Given the description of an element on the screen output the (x, y) to click on. 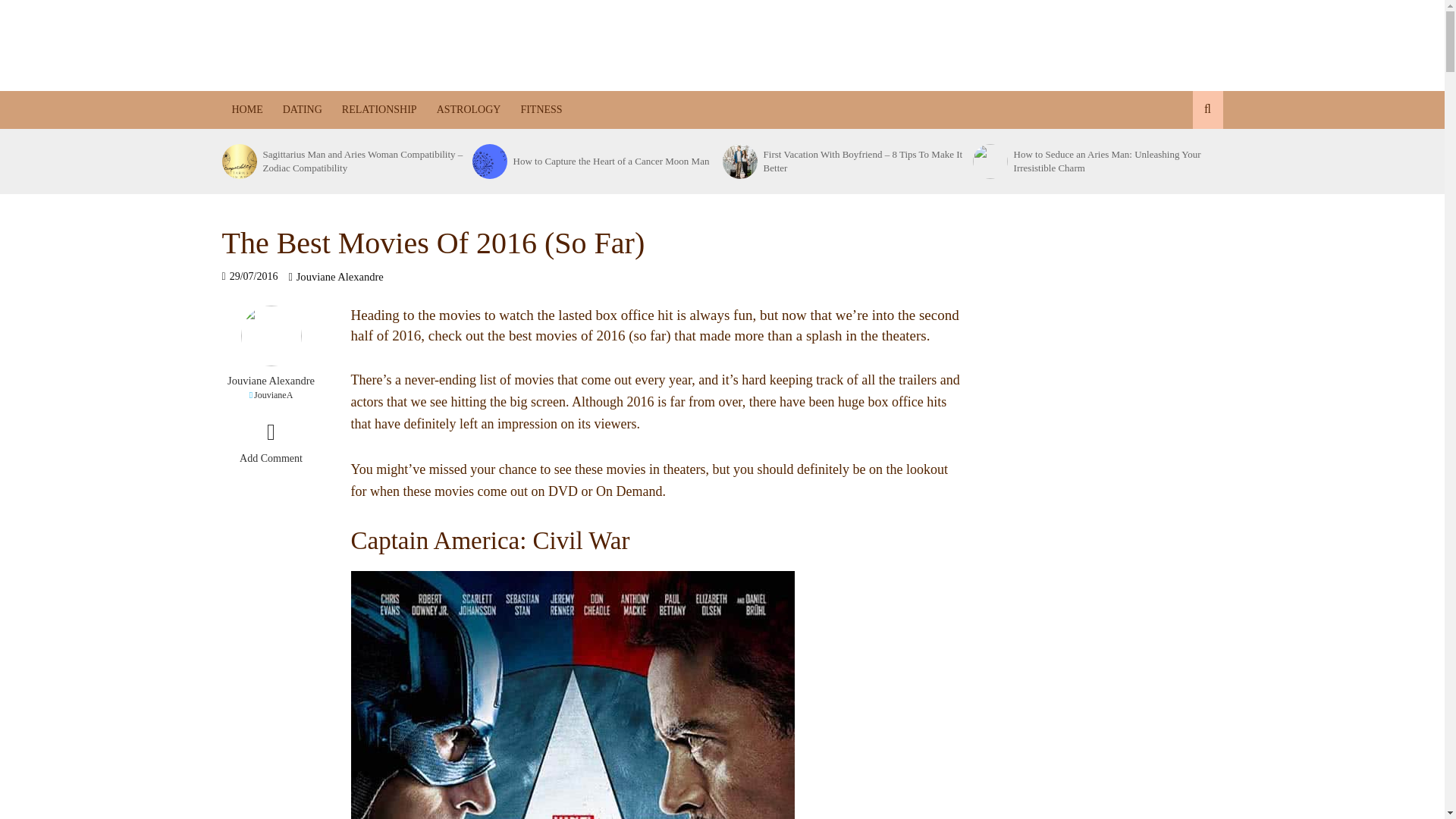
DATING (302, 109)
JouvianeA (270, 395)
FITNESS (541, 109)
Jouviane Alexandre (270, 380)
Jouviane Alexandre (340, 278)
ASTROLOGY (468, 109)
HOME (246, 109)
How to Capture the Heart of a Cancer Moon Man (488, 161)
